Given the description of an element on the screen output the (x, y) to click on. 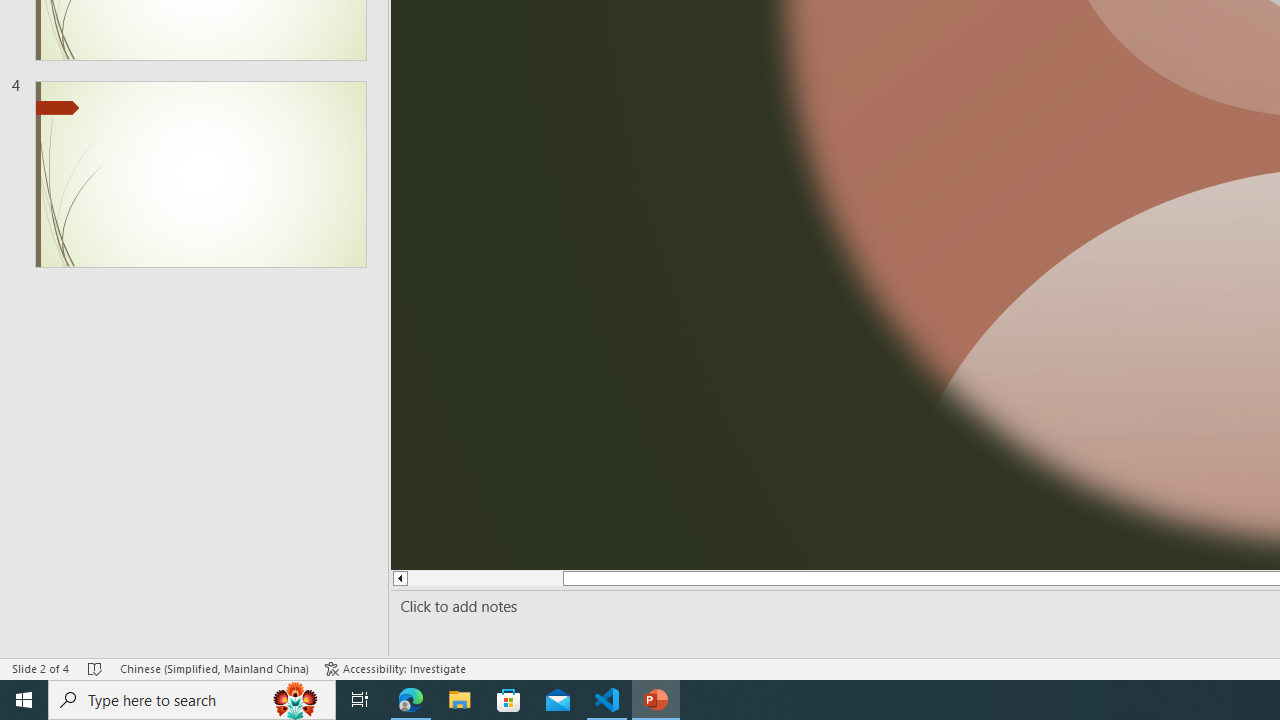
Slide (200, 174)
Accessibility Checker Accessibility: Investigate (395, 668)
Spell Check No Errors (95, 668)
